Given the description of an element on the screen output the (x, y) to click on. 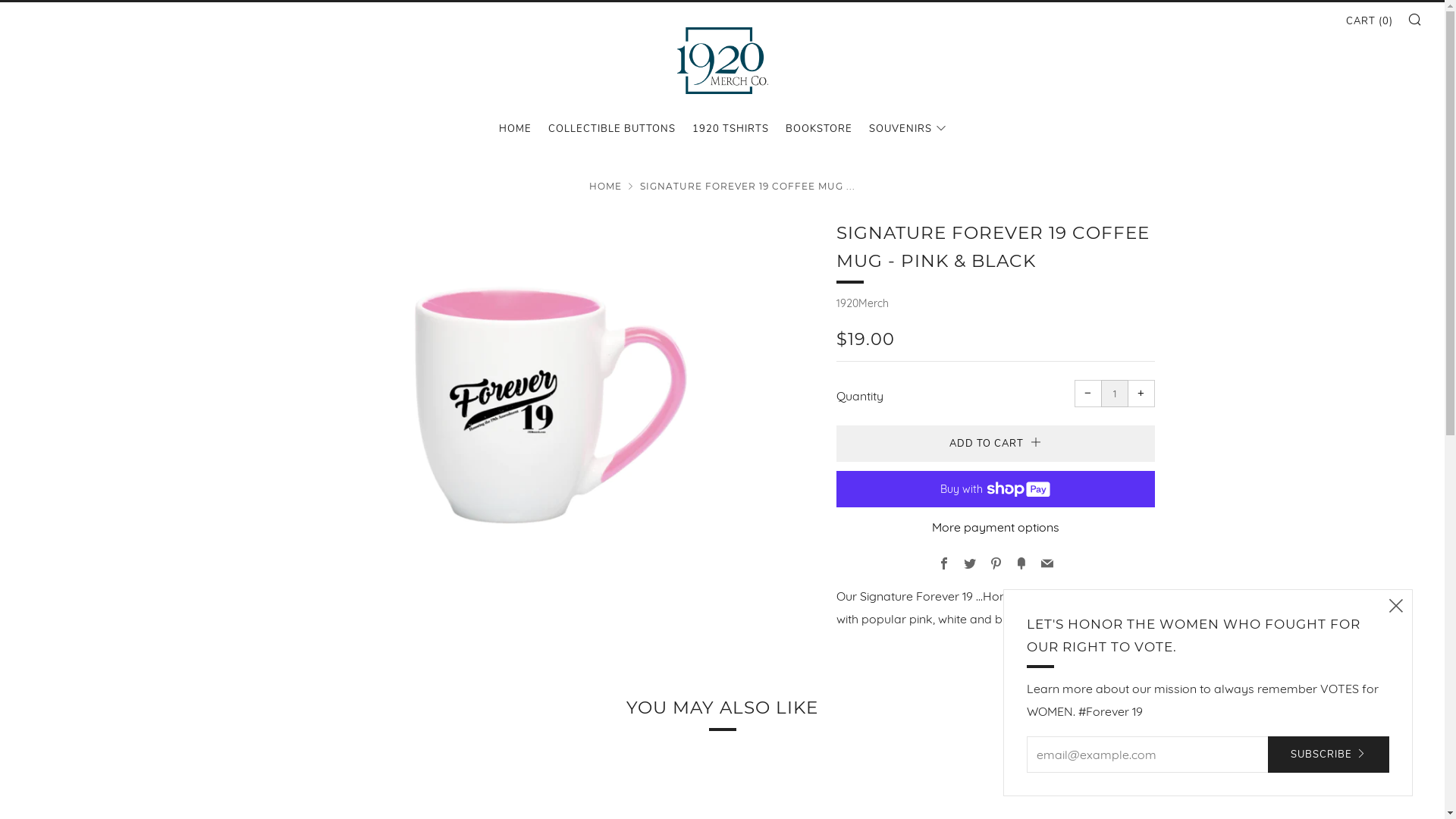
SOUVENIRS Element type: text (907, 128)
More payment options Element type: text (994, 526)
Close (esc) Element type: text (1396, 605)
CART (0) Element type: text (1369, 21)
SUBSCRIBE Element type: text (1328, 754)
+
Increase item quantity by one Element type: text (1140, 393)
BOOKSTORE Element type: text (818, 128)
HOME Element type: text (514, 128)
1920 TSHIRTS Element type: text (729, 128)
Fancy Element type: text (1020, 563)
ADD TO CART Element type: text (994, 443)
SEARCH Element type: text (1414, 18)
Facebook Element type: text (943, 563)
HOME Element type: text (605, 185)
Email Element type: text (1046, 563)
Twitter Element type: text (969, 563)
Pinterest Element type: text (994, 563)
COLLECTIBLE BUTTONS Element type: text (610, 128)
1920Merch Element type: text (861, 303)
